Given the description of an element on the screen output the (x, y) to click on. 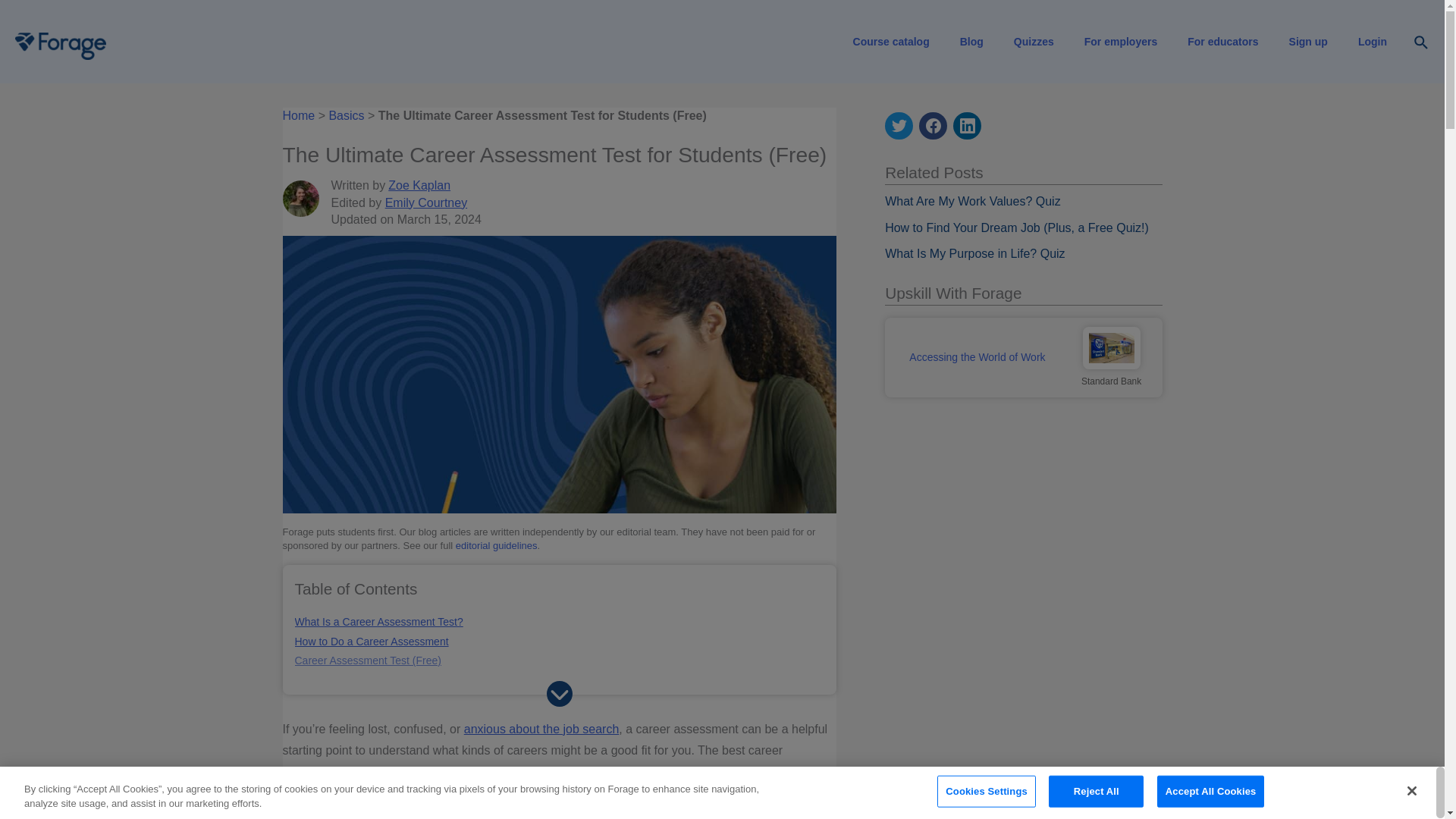
For employers (1120, 41)
Home (298, 115)
Course catalog (891, 41)
Share on Facebook (932, 125)
Share on Twitter (898, 125)
editorial guidelines (496, 545)
Zoe Kaplan (418, 185)
Share on LinkedIn (967, 125)
View all posts by Emily Courtney (426, 202)
Share on Twitter (899, 125)
